Given the description of an element on the screen output the (x, y) to click on. 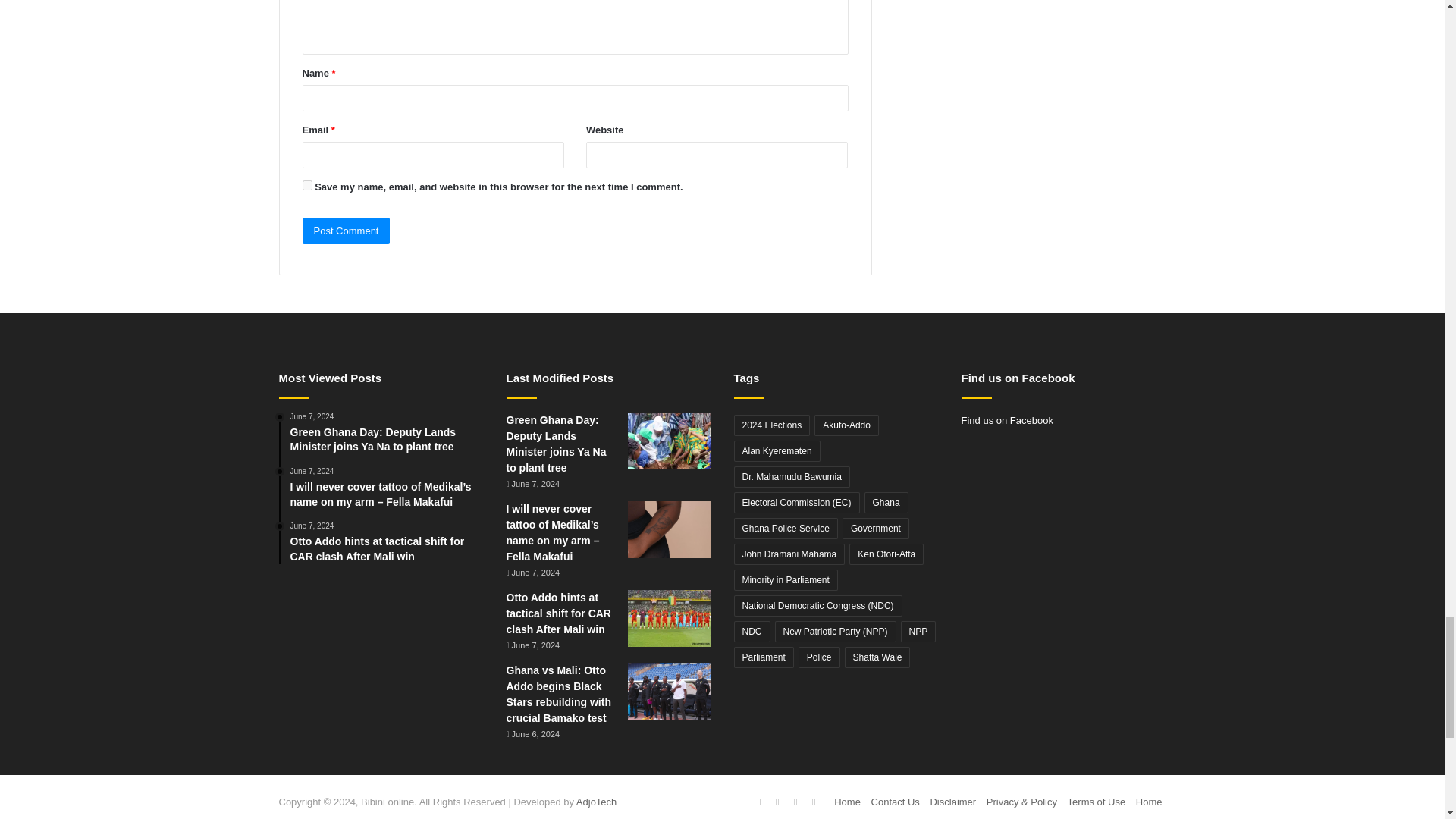
Post Comment (345, 230)
yes (306, 185)
